Given the description of an element on the screen output the (x, y) to click on. 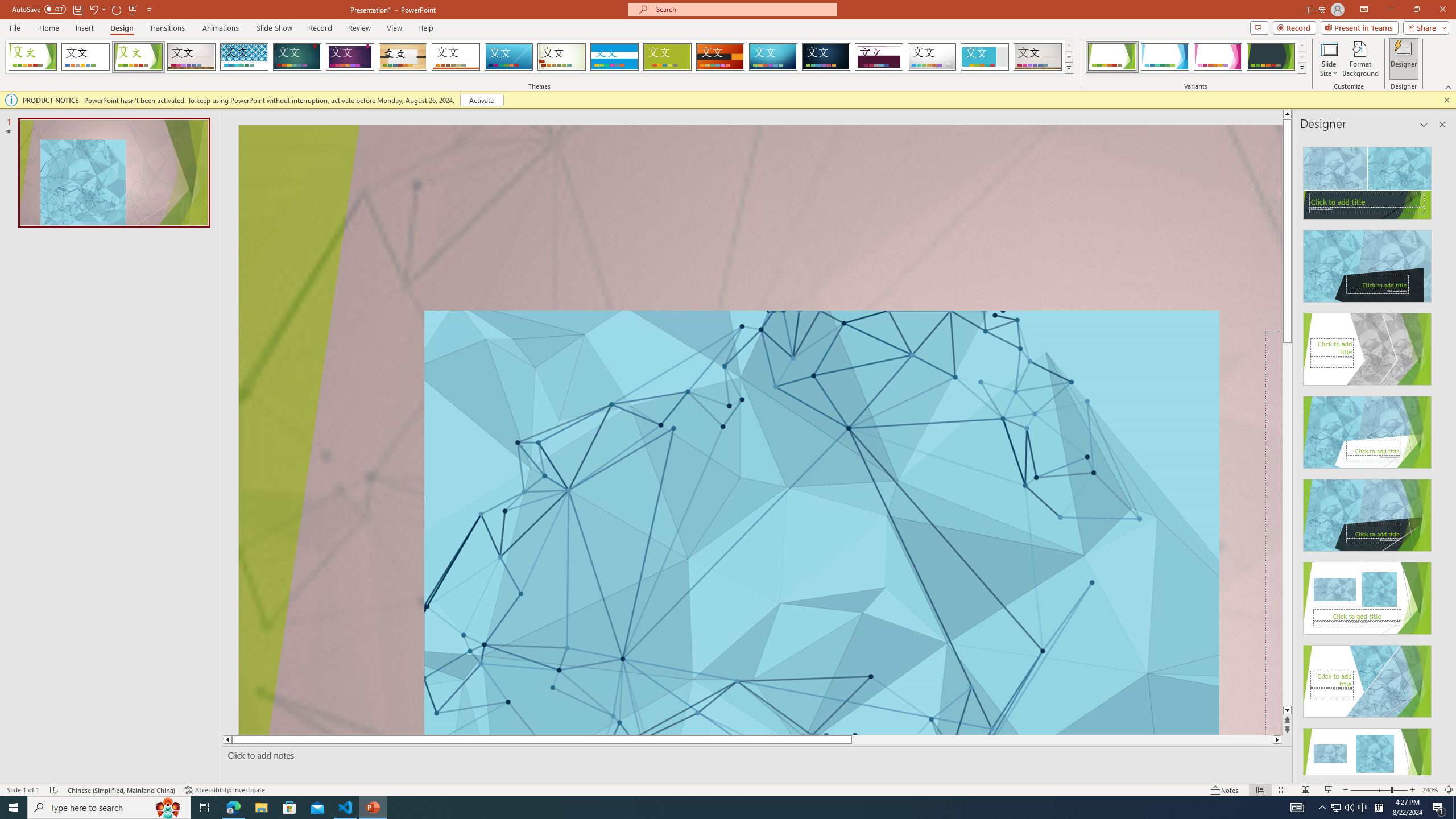
Format Background (1360, 58)
Close this message (1446, 99)
Dividend (879, 56)
Facet Variant 2 (1164, 56)
Droplet (931, 56)
Ion (296, 56)
